Given the description of an element on the screen output the (x, y) to click on. 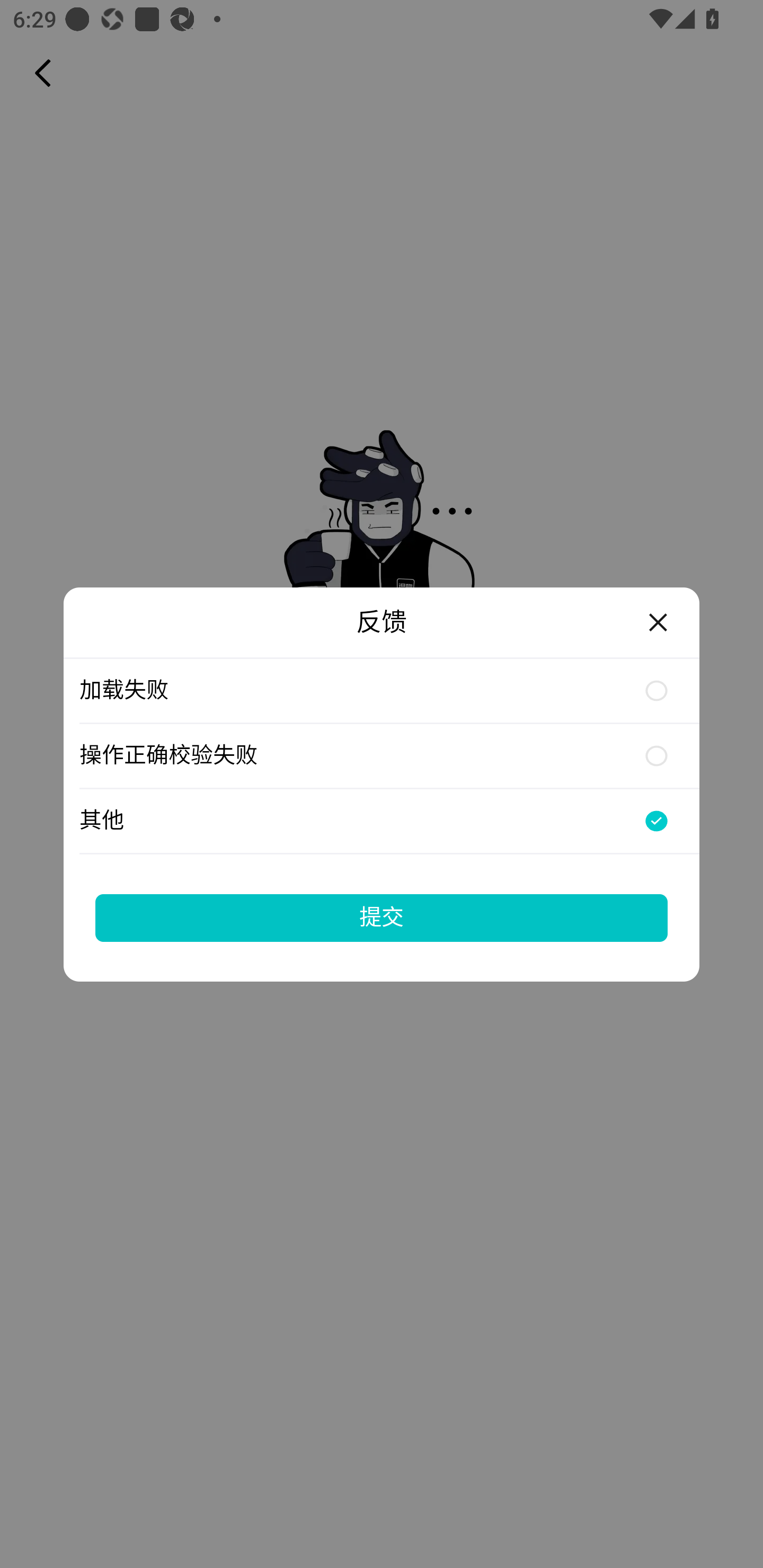
提交 (381, 917)
